Given the description of an element on the screen output the (x, y) to click on. 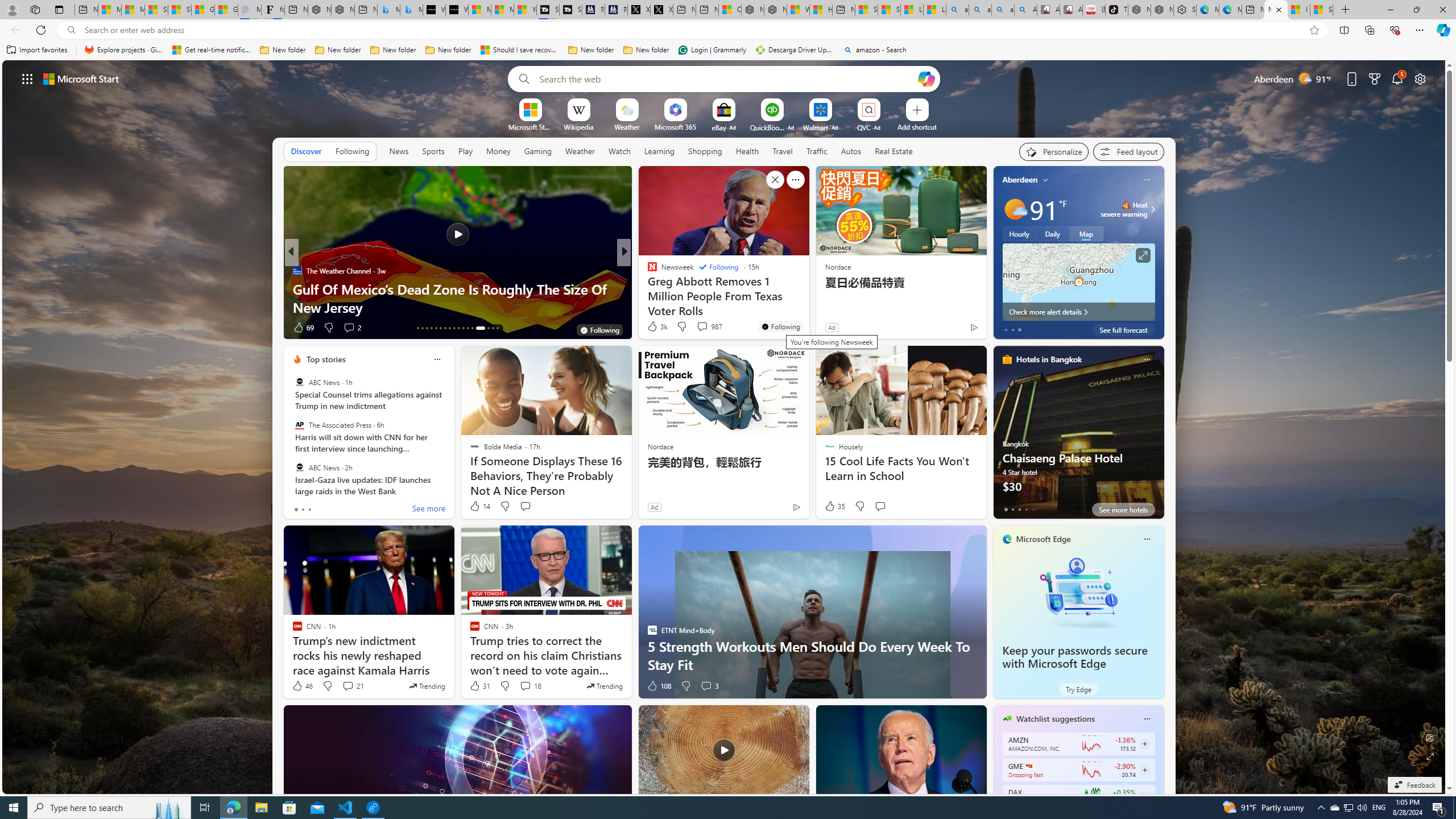
Ad Choice (796, 506)
Weather (579, 151)
The Independent (647, 270)
amazon - Search (979, 9)
View comments 2 Comment (351, 327)
ABC News (299, 466)
Discover (306, 151)
Autos (850, 151)
tab-1 (1012, 509)
Travel (782, 151)
